Given the description of an element on the screen output the (x, y) to click on. 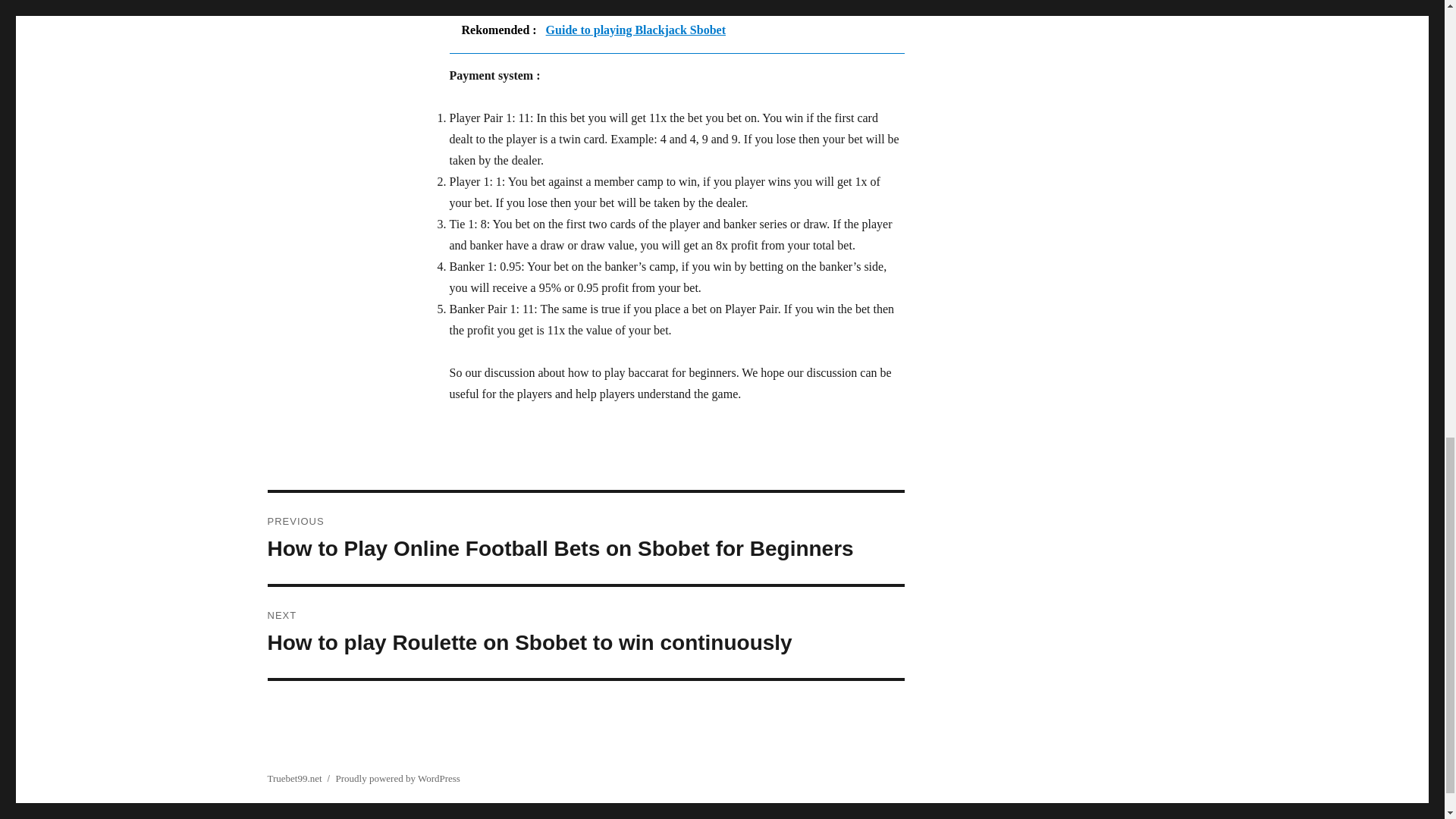
Rekomended :   Guide to playing Blackjack Sbobet (676, 30)
Proudly powered by WordPress (397, 778)
Truebet99.net (293, 778)
